Given the description of an element on the screen output the (x, y) to click on. 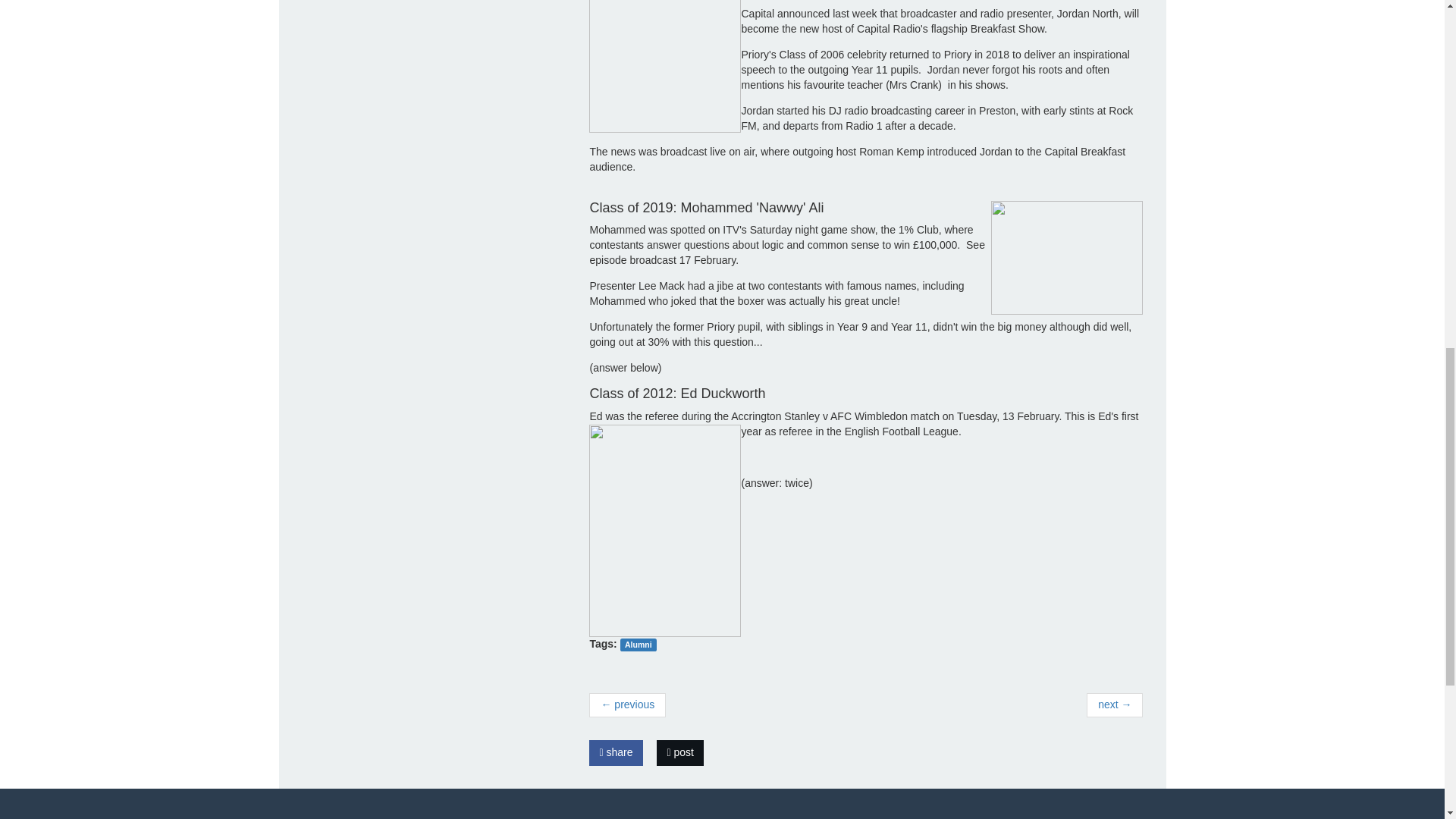
Share on Facebook (615, 752)
Alumni (638, 644)
share (615, 752)
Post on X (679, 752)
post (679, 752)
Mrs Elliott's cool reader's club - Jess (627, 704)
